Given the description of an element on the screen output the (x, y) to click on. 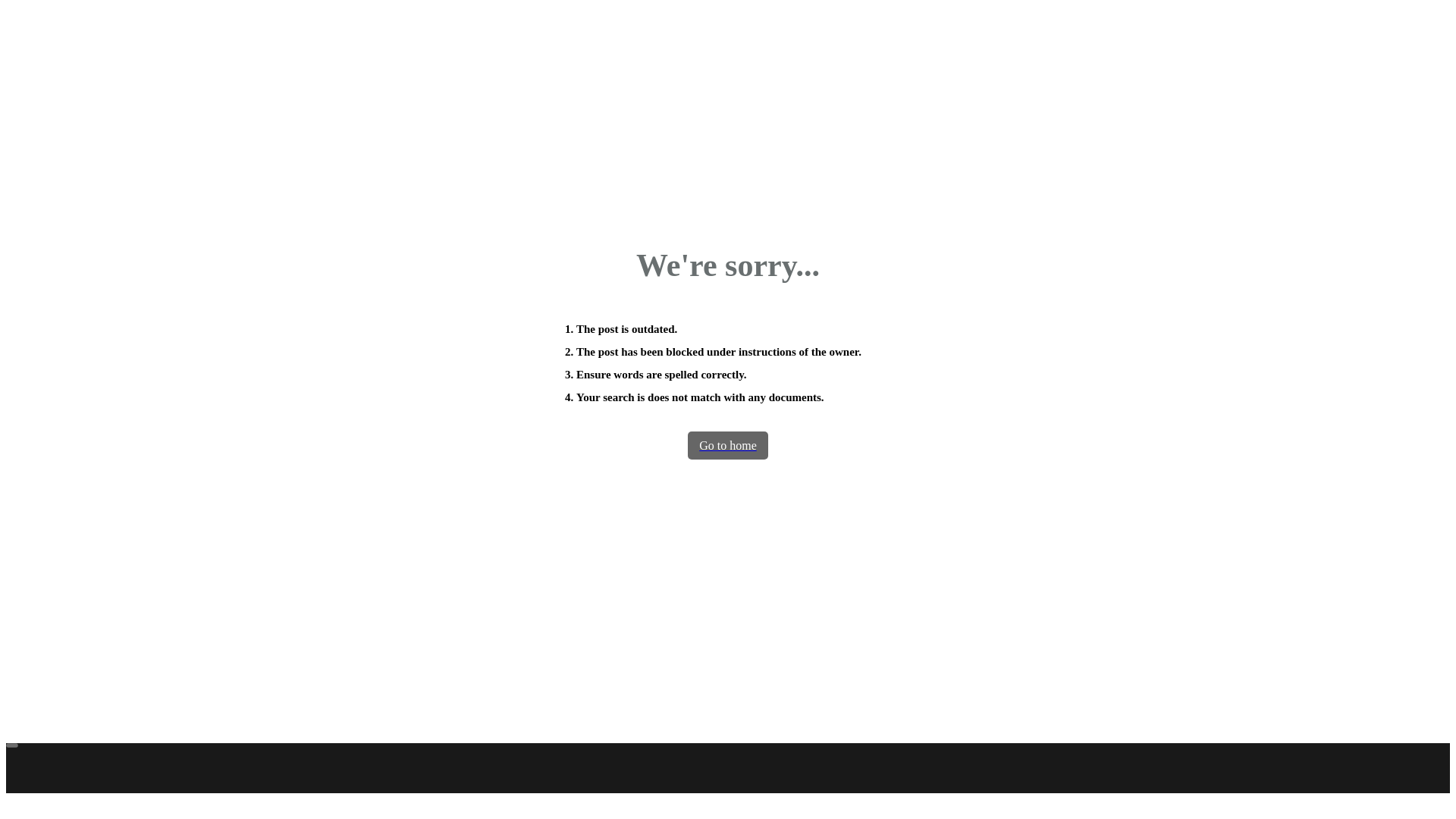
Go to home (727, 445)
